Given the description of an element on the screen output the (x, y) to click on. 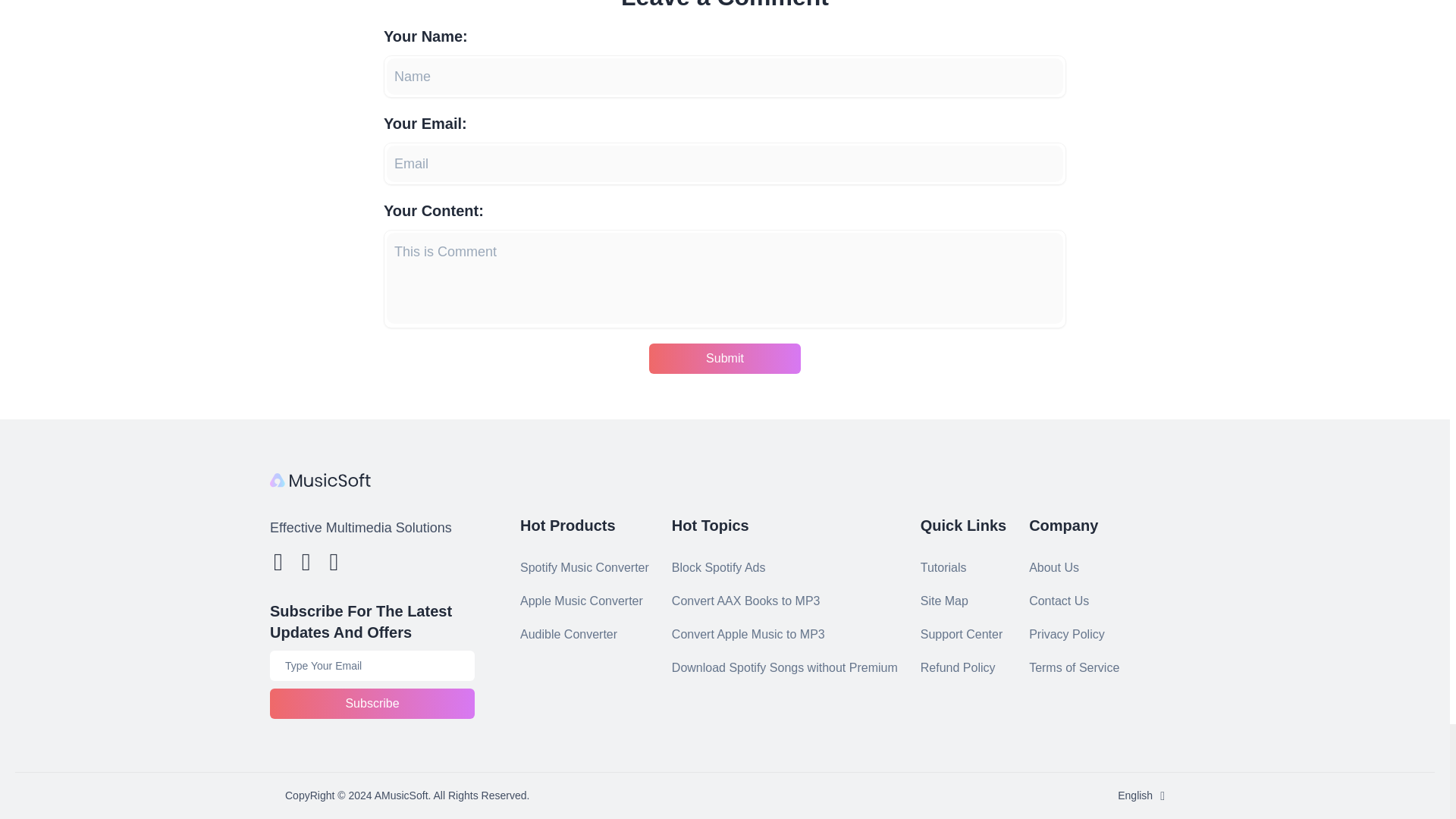
Audible Converter (568, 634)
Download Music from Spotify (746, 600)
Apple Music Converter (581, 600)
Spotify Music Converter (584, 567)
Block Spotify Ads (718, 567)
Convert Apple Music to MP3 (748, 634)
Subscribe (371, 703)
Convert AAX Books to MP3 (746, 600)
Submit (724, 358)
Get Apple Music Free Forever (784, 667)
